Given the description of an element on the screen output the (x, y) to click on. 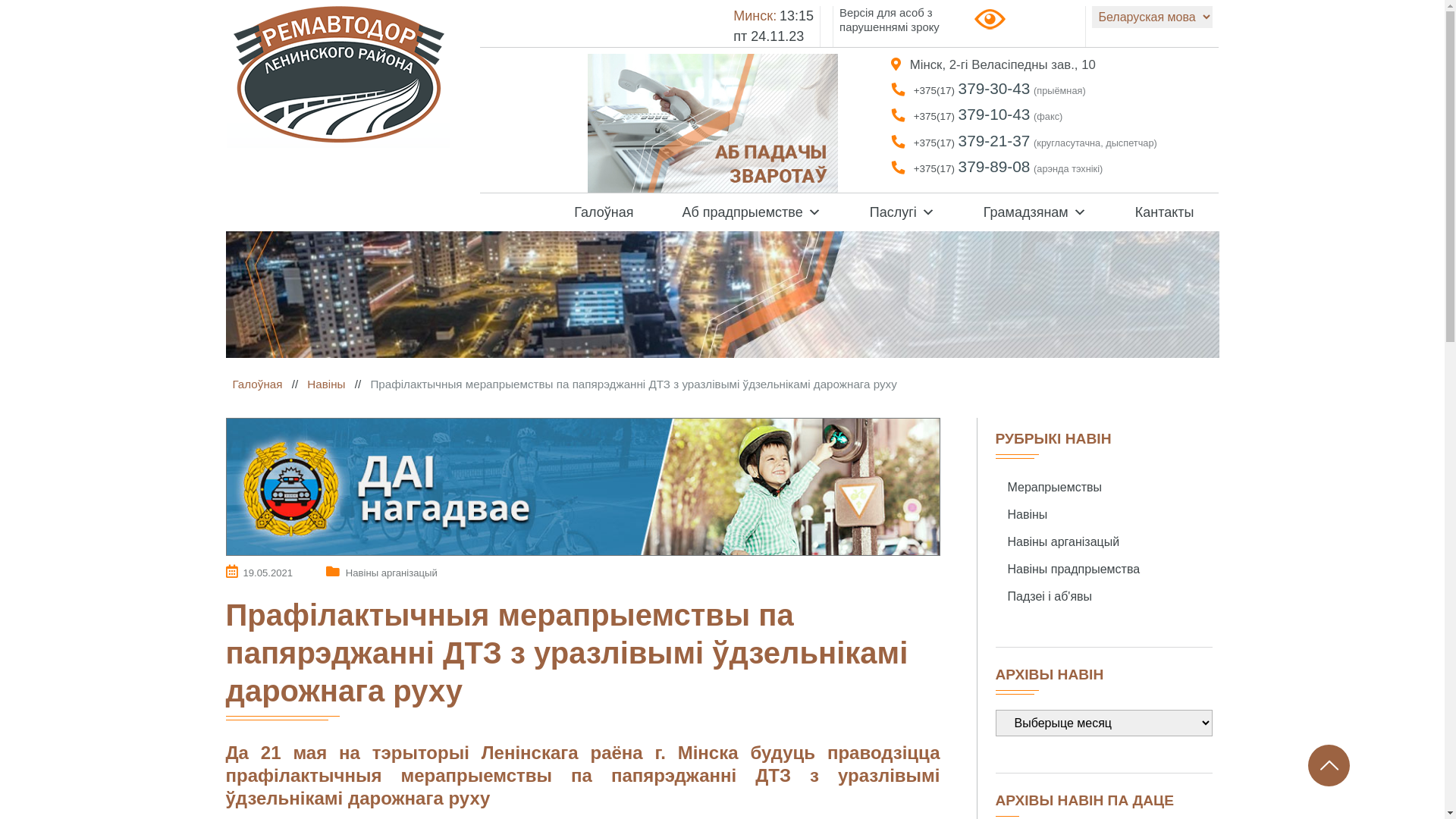
13:15 Element type: text (796, 15)
